Given the description of an element on the screen output the (x, y) to click on. 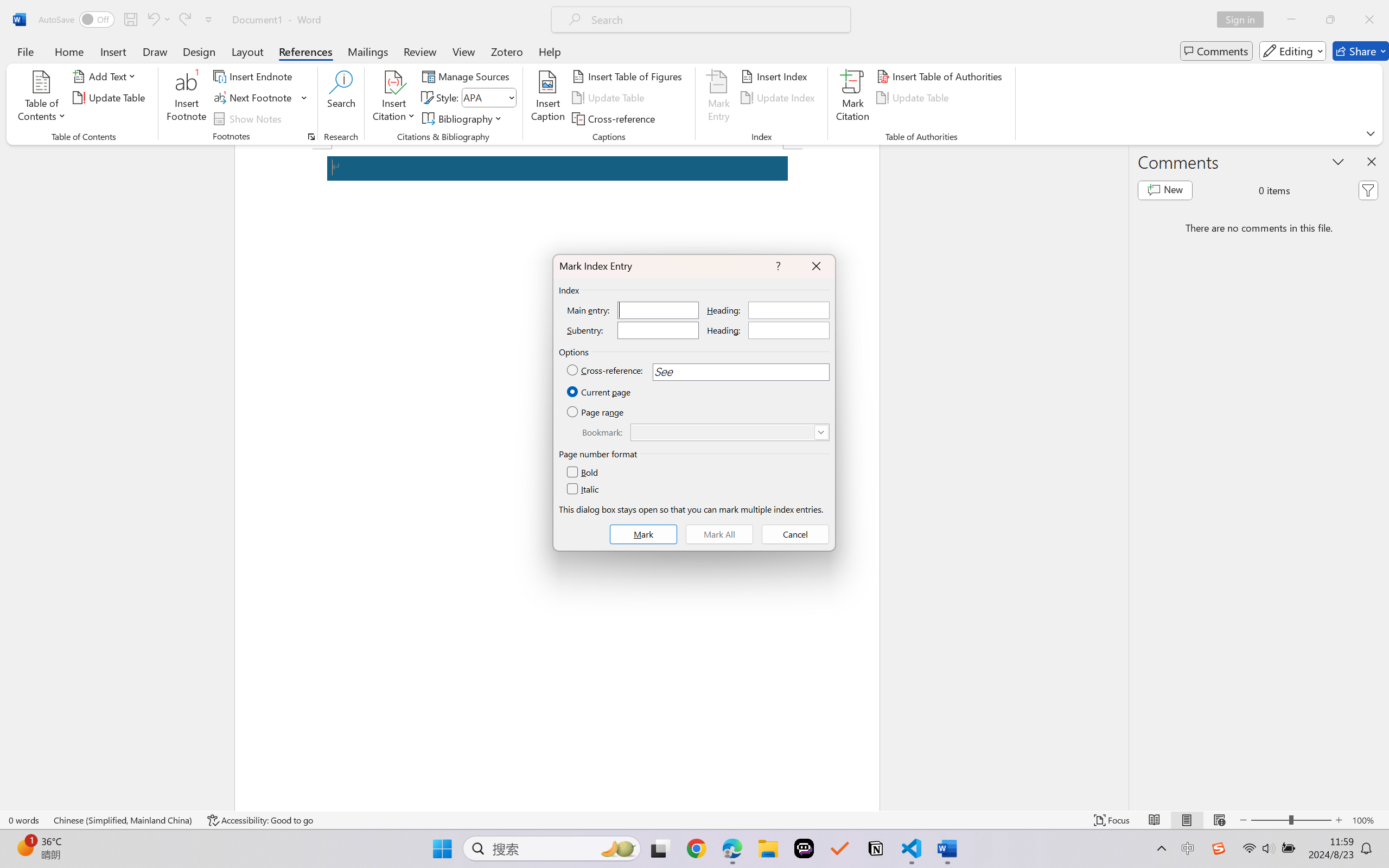
Update Index (778, 97)
